Given the description of an element on the screen output the (x, y) to click on. 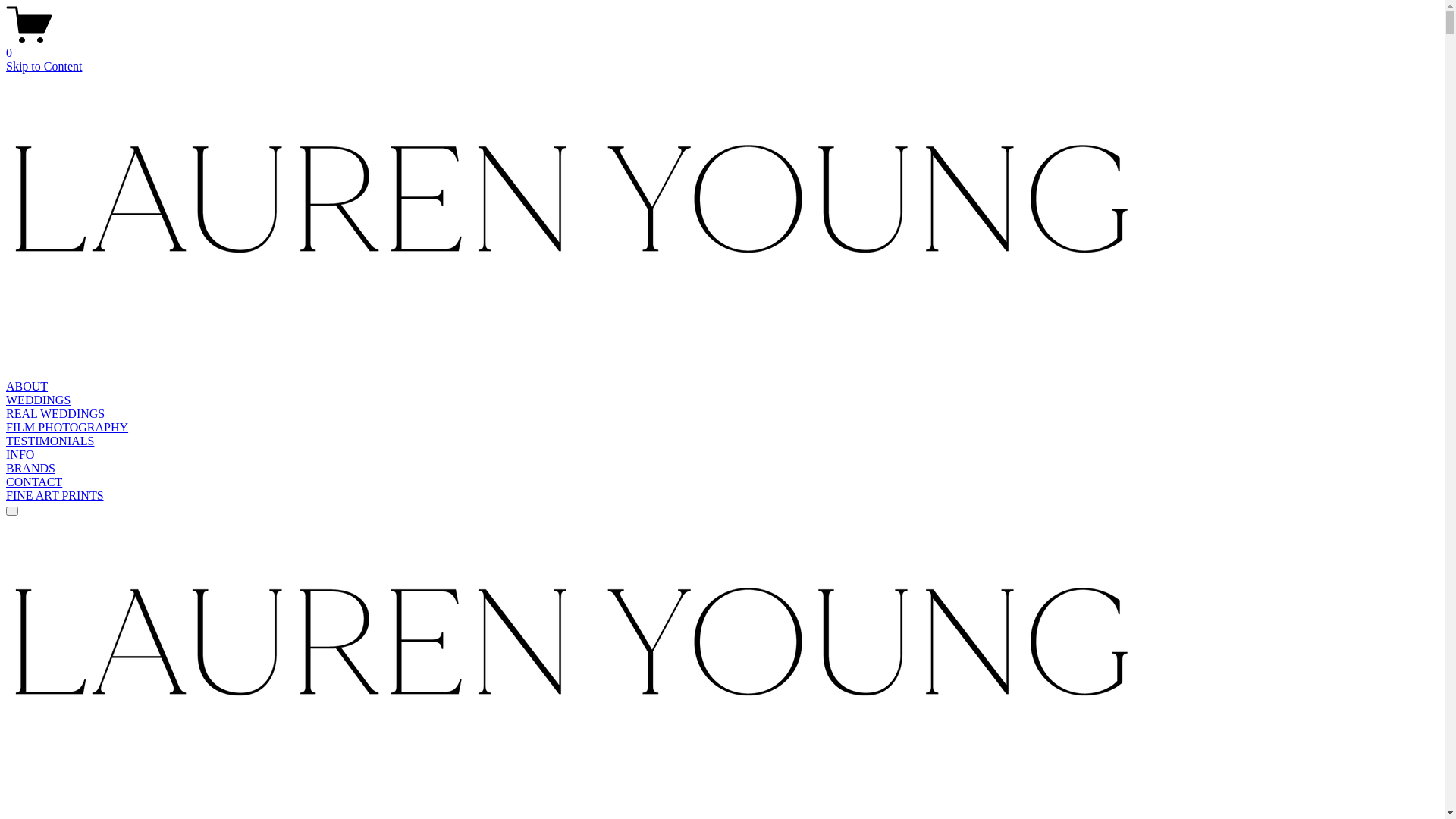
TESTIMONIALS Element type: text (50, 440)
FILM PHOTOGRAPHY Element type: text (67, 426)
CONTACT Element type: text (34, 481)
BRANDS Element type: text (30, 467)
Skip to Content Element type: text (43, 65)
WEDDINGS Element type: text (38, 399)
FINE ART PRINTS Element type: text (54, 495)
ABOUT Element type: text (26, 385)
INFO Element type: text (20, 454)
REAL WEDDINGS Element type: text (55, 413)
0 Element type: text (722, 45)
